Given the description of an element on the screen output the (x, y) to click on. 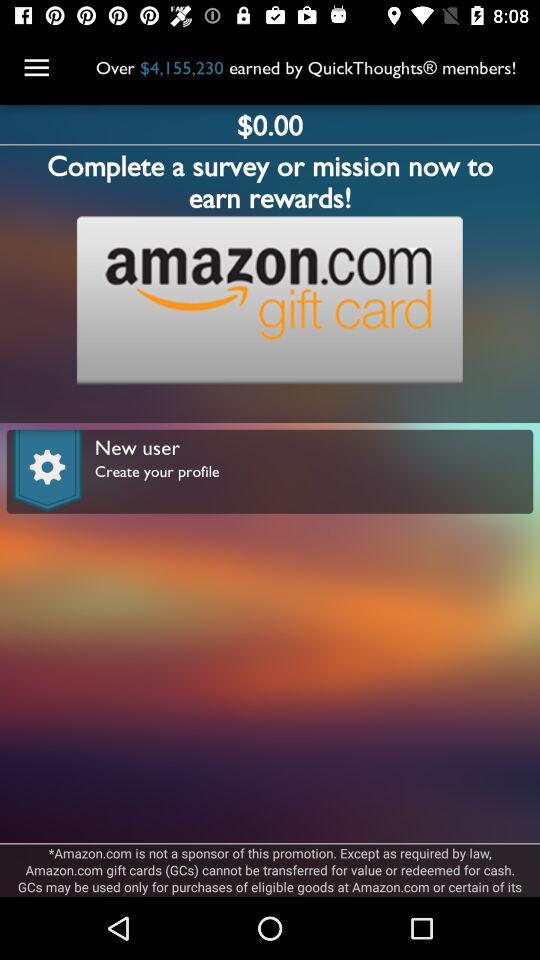
jump until amazon com is (269, 870)
